Given the description of an element on the screen output the (x, y) to click on. 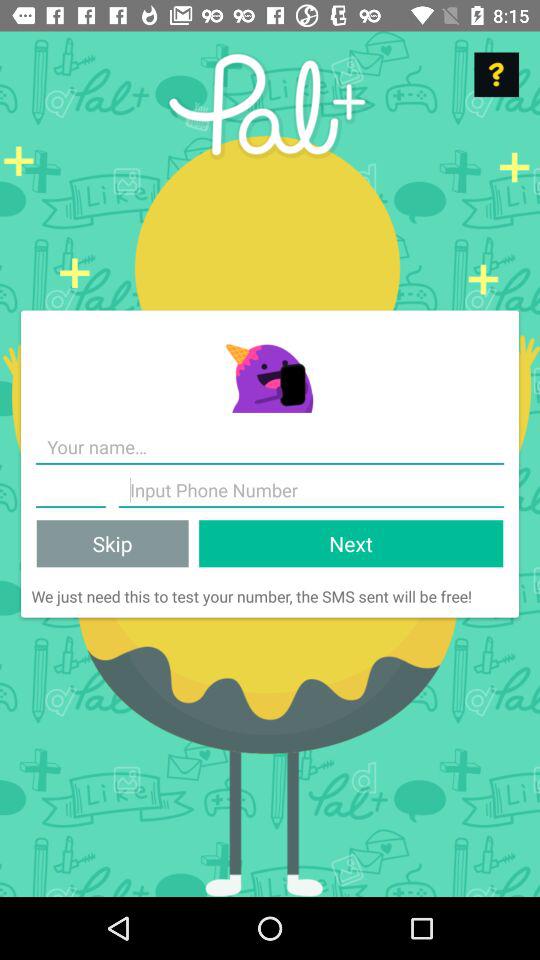
press skip item (112, 543)
